Given the description of an element on the screen output the (x, y) to click on. 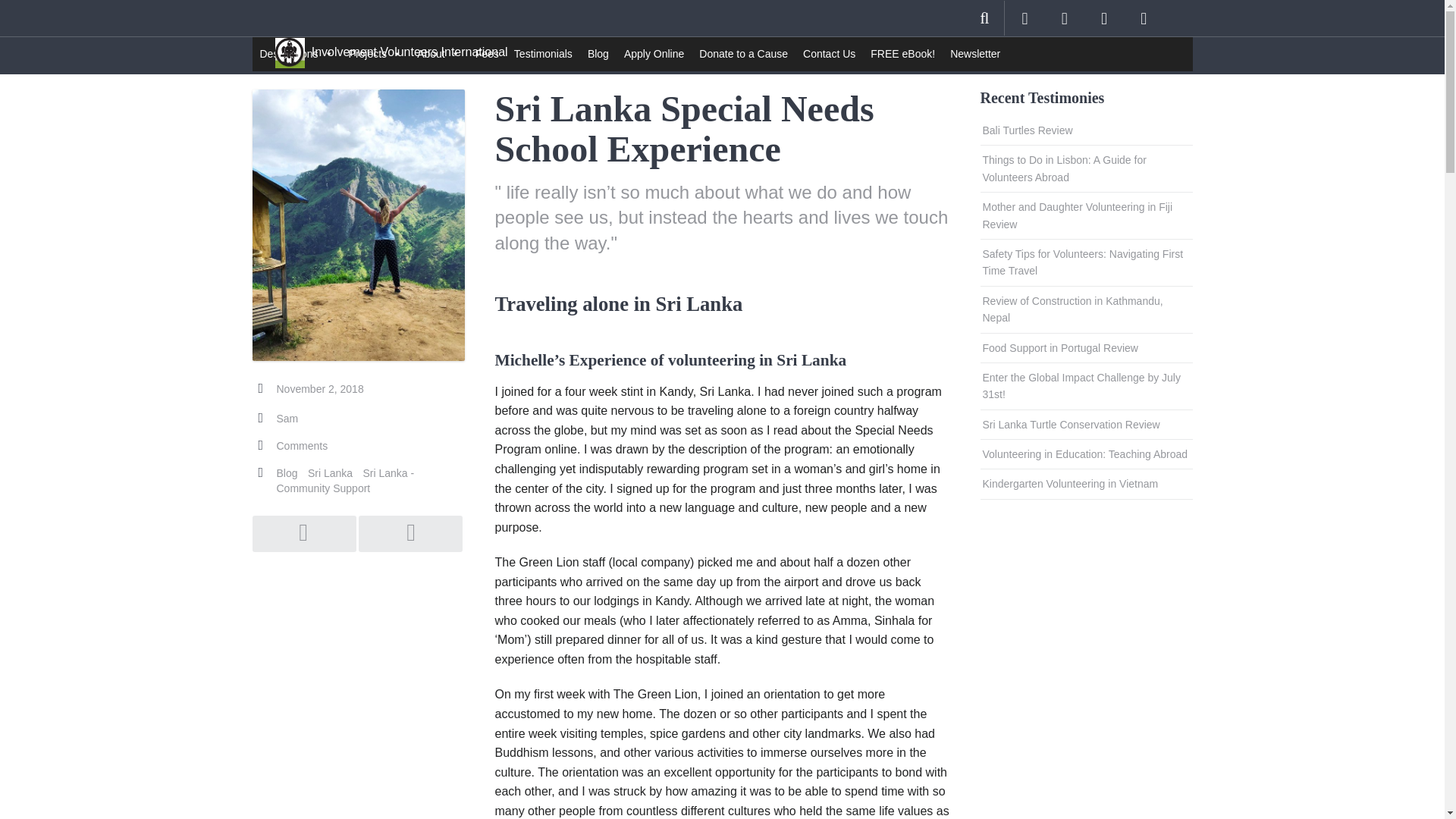
 Involvement Volunteers International (390, 46)
Posts by Sam (287, 418)
Destinations (295, 53)
Volunteer Overseas with IVI (390, 46)
